Given the description of an element on the screen output the (x, y) to click on. 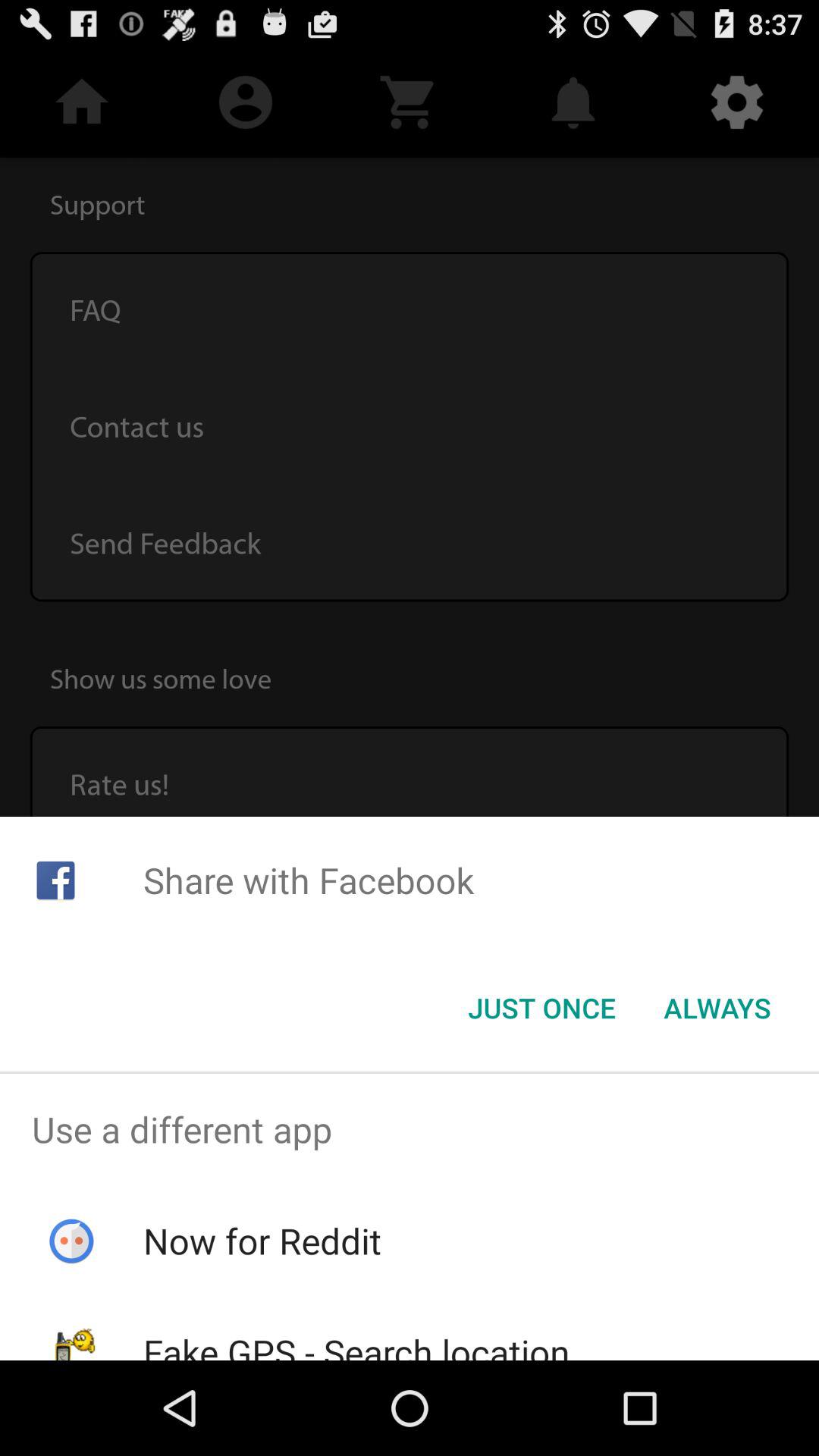
press the app below use a different item (262, 1240)
